Given the description of an element on the screen output the (x, y) to click on. 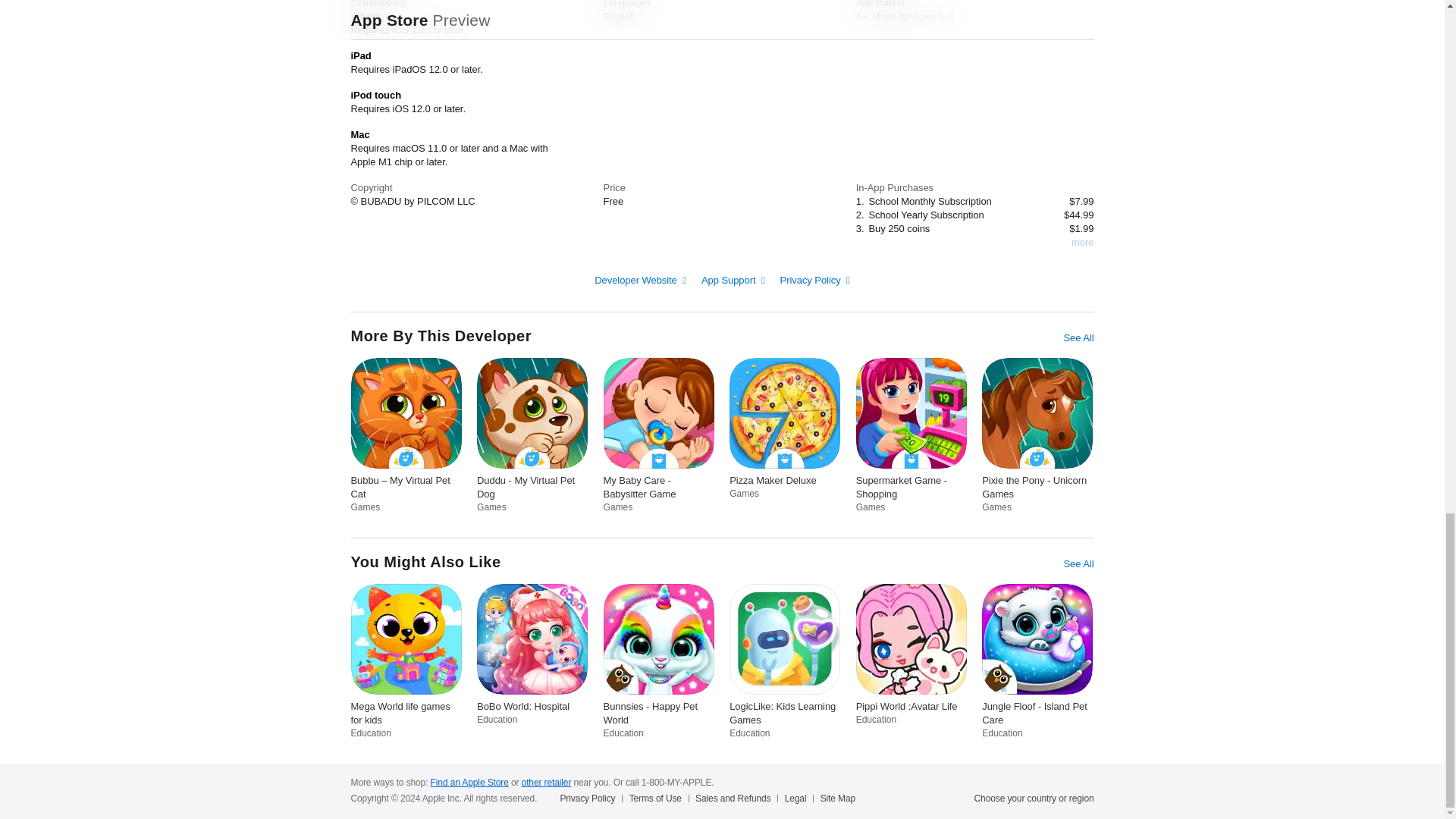
App Support (733, 279)
Privacy Policy (815, 279)
Choose your country or region (1034, 798)
more (1082, 242)
Developer Website (639, 279)
